Given the description of an element on the screen output the (x, y) to click on. 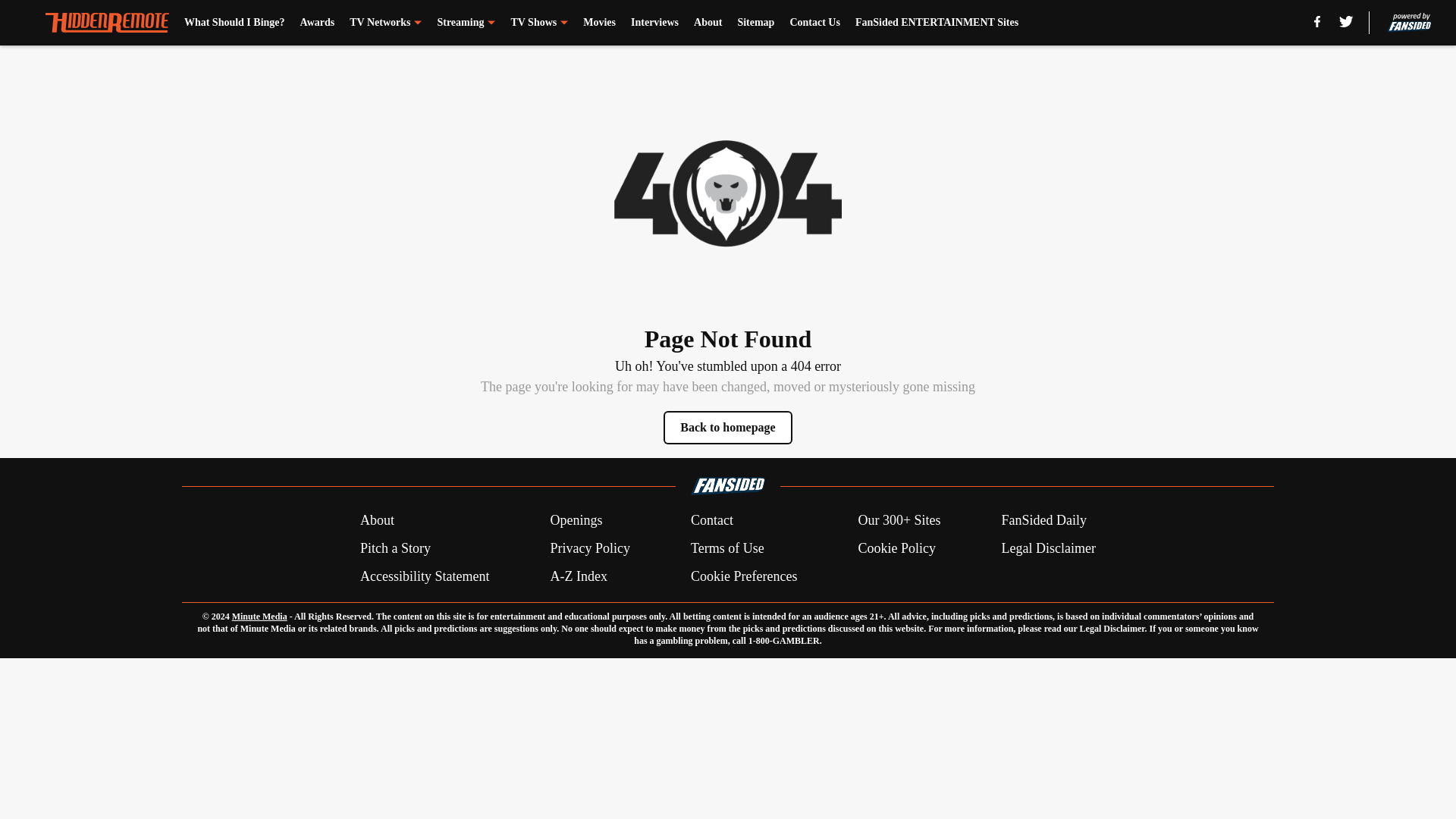
FanSided Daily (1044, 520)
Movies (599, 22)
Error image (727, 193)
Pitch a Story (394, 548)
Sitemap (755, 22)
Awards (316, 22)
Interviews (654, 22)
Contact Us (814, 22)
Openings (576, 520)
FanSided ENTERTAINMENT Sites (936, 22)
